Given the description of an element on the screen output the (x, y) to click on. 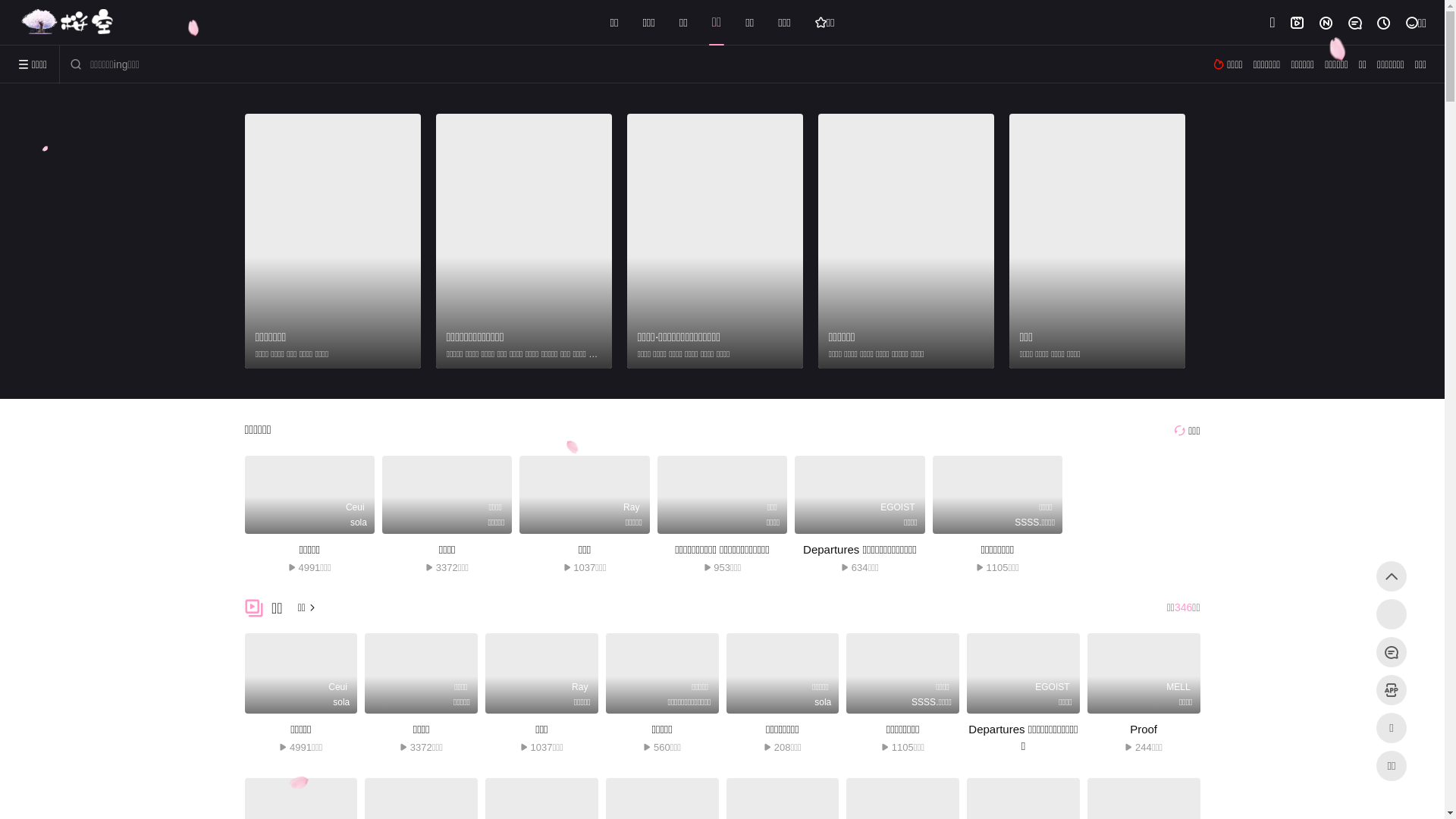
Ceui 
sola Element type: text (300, 673)
Ceui 
sola Element type: text (308, 494)
Proof Element type: text (1143, 728)
